Given the description of an element on the screen output the (x, y) to click on. 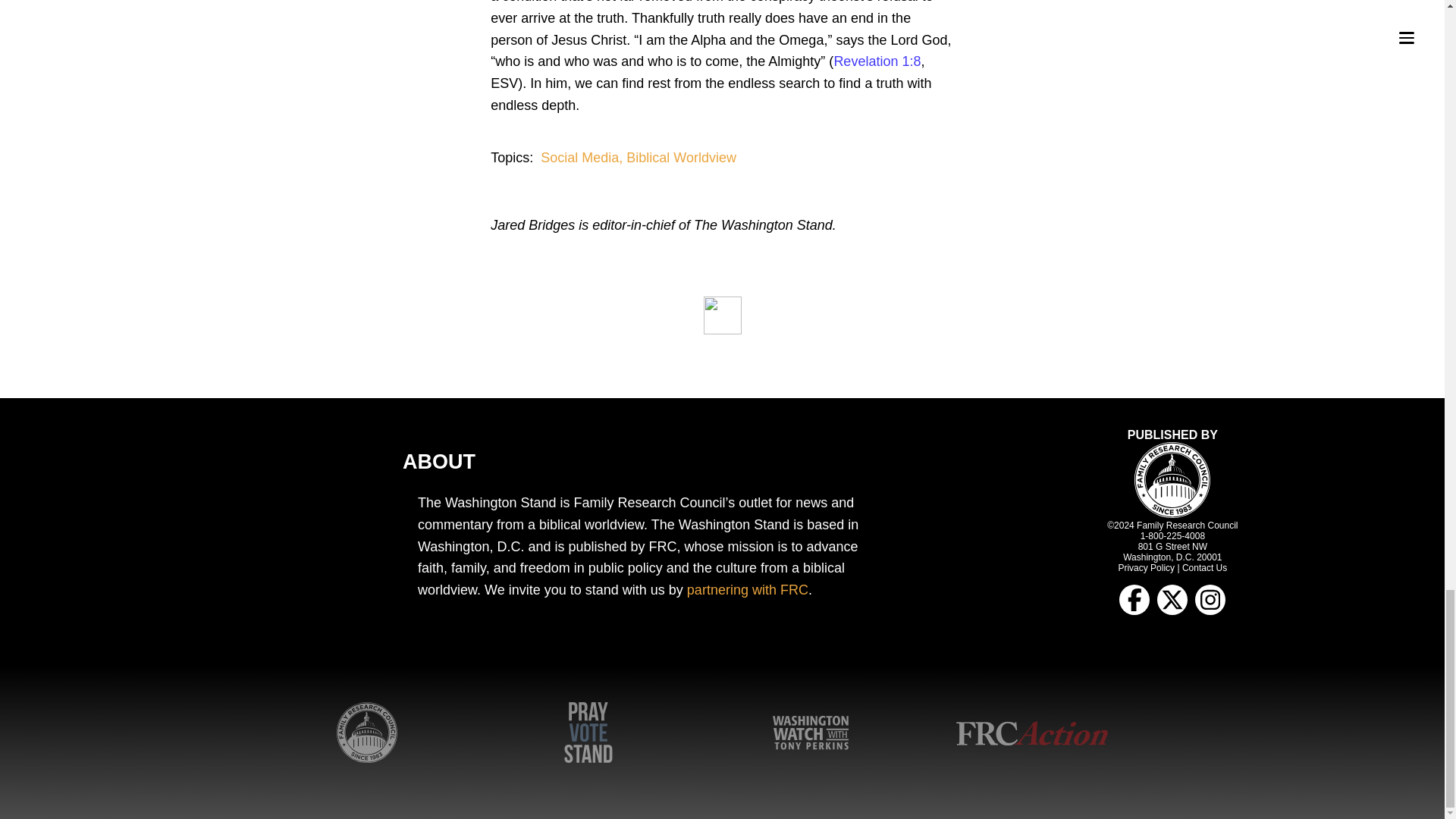
Privacy Policy (1146, 567)
Revelation 1:8 (876, 61)
partnering with FRC (747, 589)
Social Media, (583, 157)
Biblical Worldview (681, 157)
Contact Us (1204, 567)
